Given the description of an element on the screen output the (x, y) to click on. 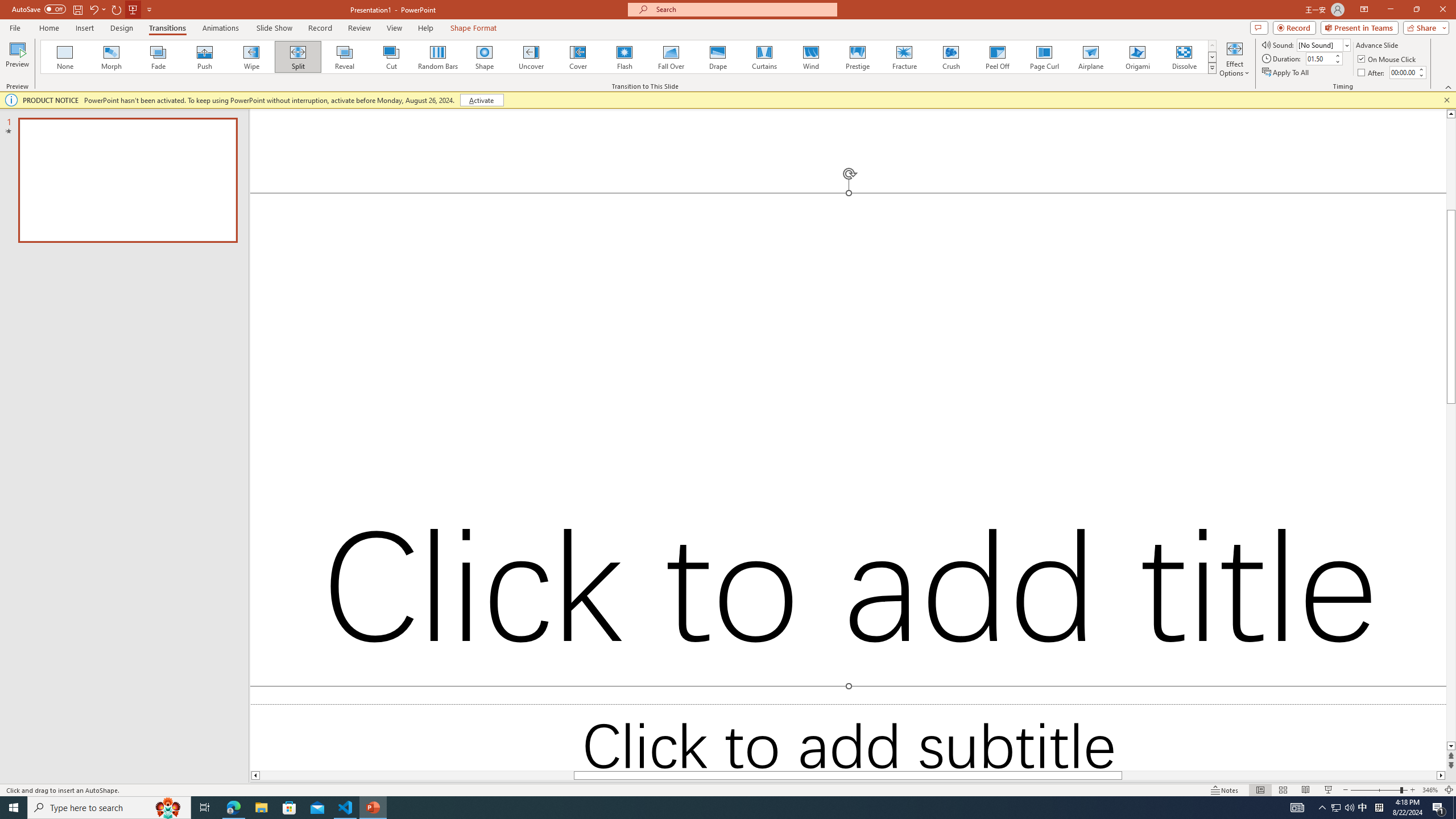
List Paragraph (1369, 528)
Align Right (452, 102)
Show/Hide Editing Marks (624, 77)
Intense Emphasis (1369, 414)
Mode (1343, 48)
Heading 1 (880, 91)
Intense Reference (1369, 496)
Character Shading (350, 102)
Help (575, 47)
Open (226, 77)
